Given the description of an element on the screen output the (x, y) to click on. 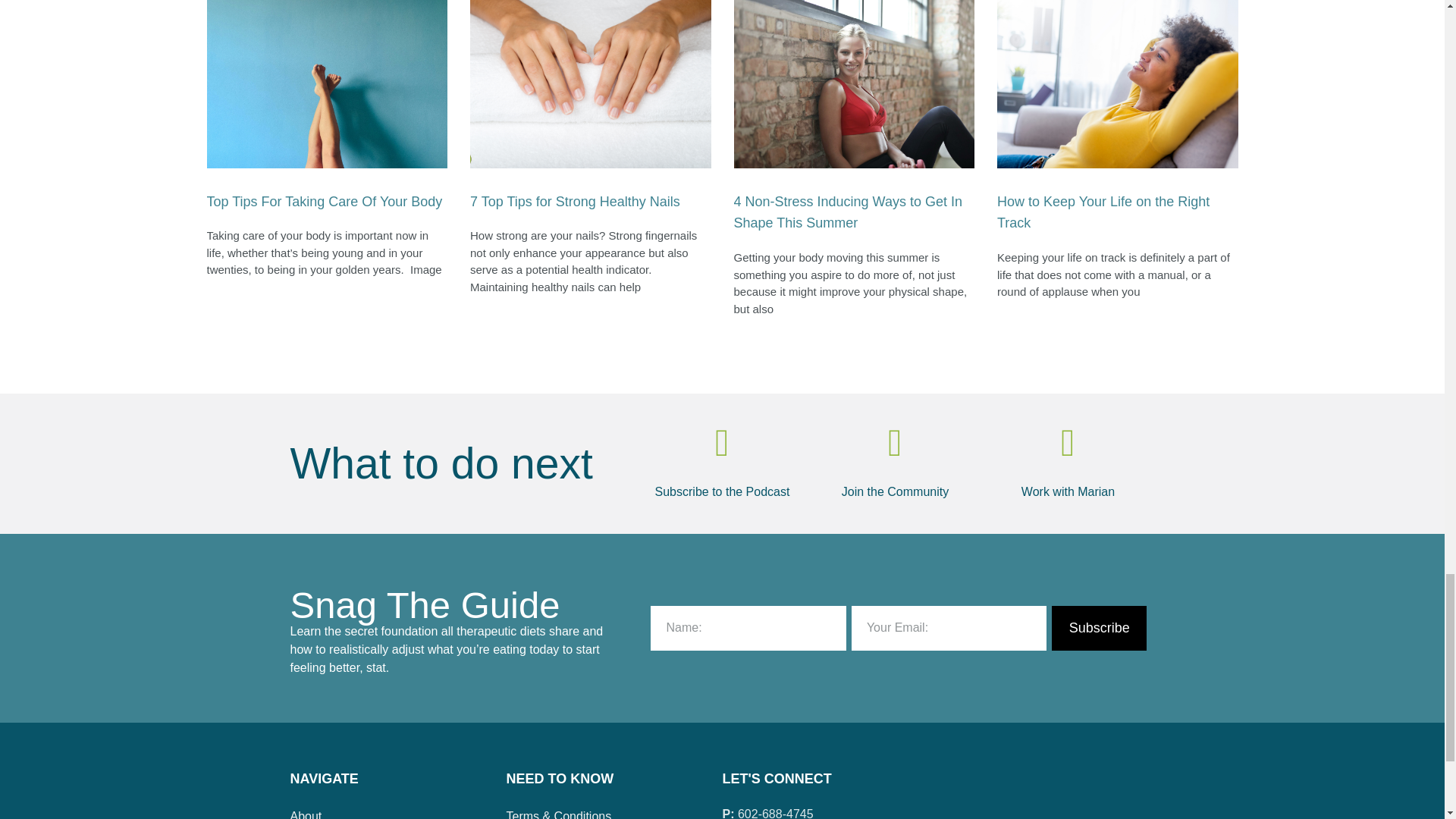
Top Tips For Taking Care Of Your Body (324, 201)
